Given the description of an element on the screen output the (x, y) to click on. 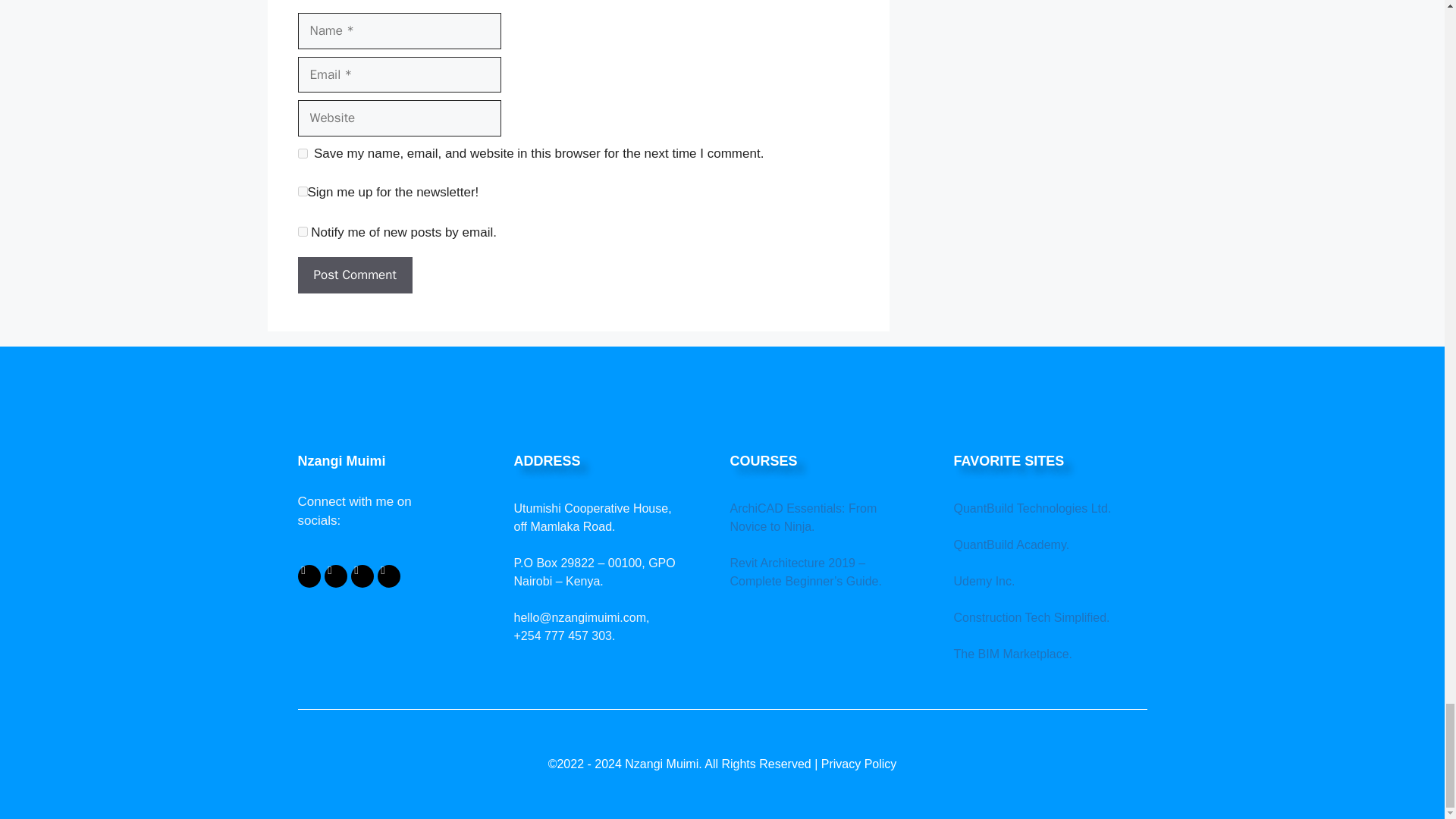
QuantBuild Technologies Ltd. (1032, 508)
yes (302, 153)
ArchiCAD Essentials: From Novice to Ninja. (802, 517)
QuantBuild Academy. (1011, 544)
Post Comment (354, 275)
1 (302, 191)
Nzangi Muimi (397, 460)
subscribe (302, 231)
Post Comment (354, 275)
